Given the description of an element on the screen output the (x, y) to click on. 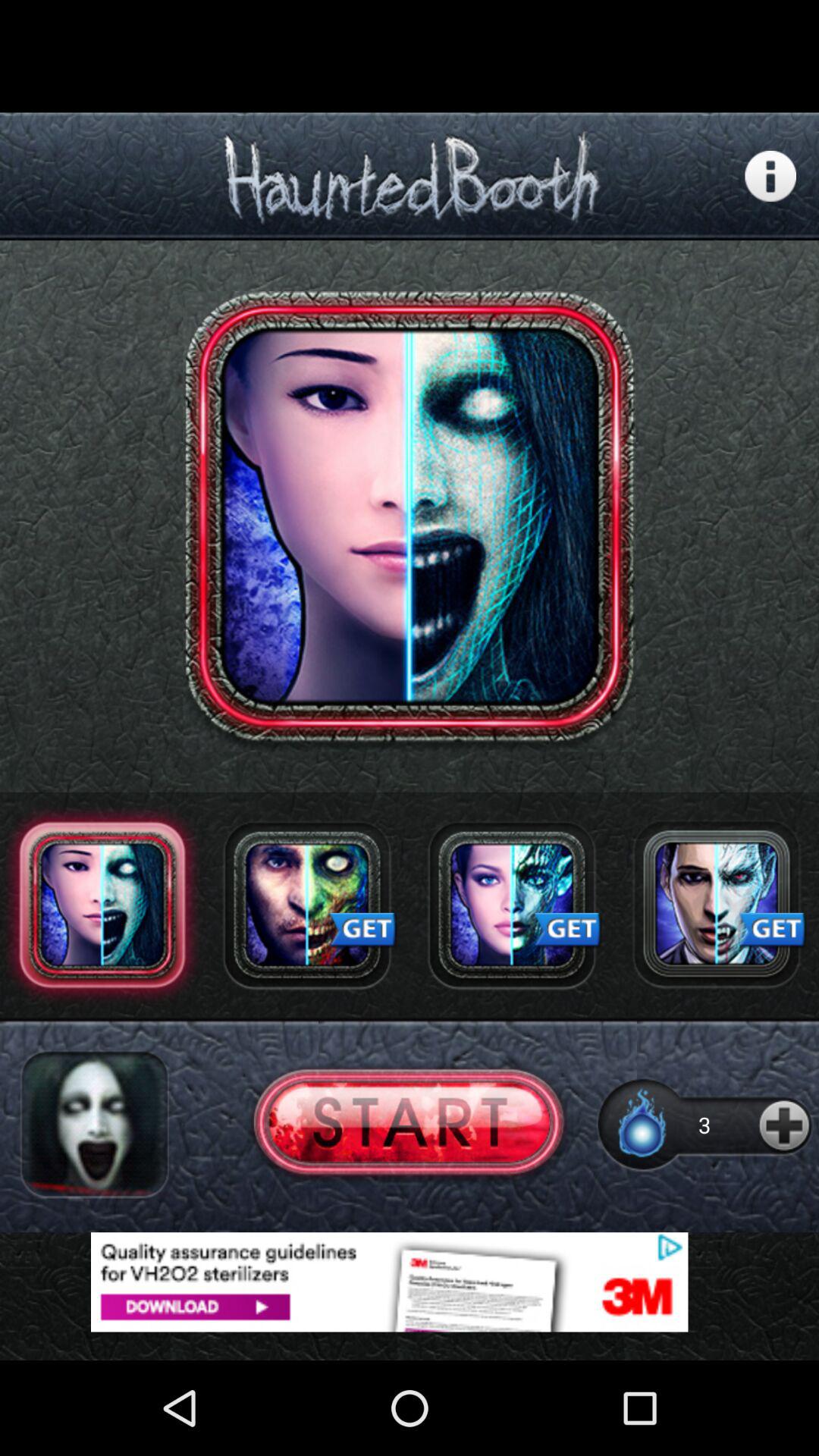
display advertisement (409, 1282)
